Given the description of an element on the screen output the (x, y) to click on. 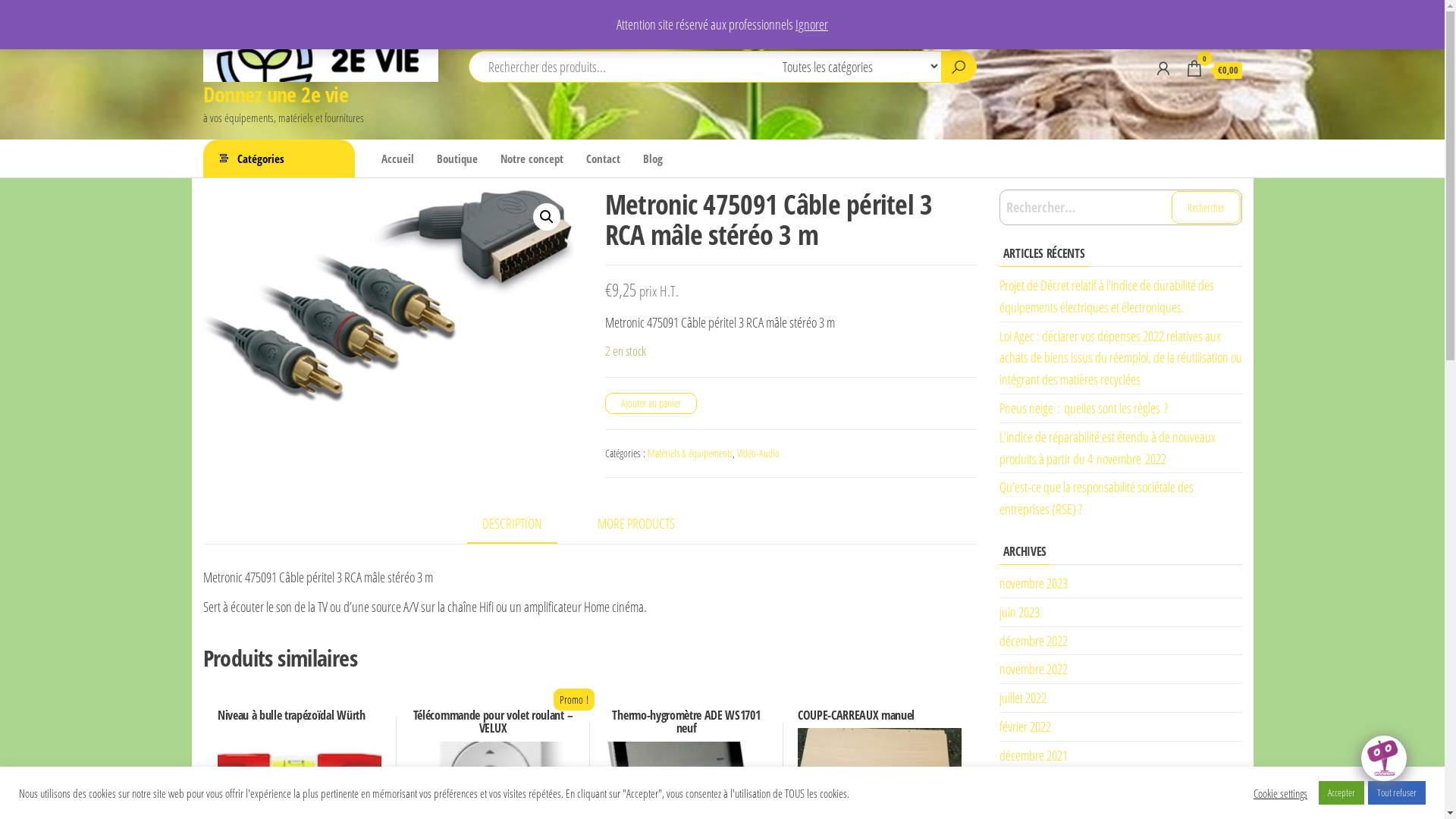
Notre concept Element type: text (531, 158)
Boutique Element type: text (456, 158)
Cable 3 RCA PERITEL - 3m Element type: hover (388, 295)
Cookie settings Element type: text (1280, 792)
Ajouter au panier Element type: text (650, 403)
novembre 2021 Element type: text (1033, 783)
Accueil Element type: text (397, 158)
Accepter Element type: text (1341, 792)
novembre 2022 Element type: text (1033, 668)
Blog Element type: text (651, 158)
Contact Element type: text (602, 158)
Tout refuser Element type: text (1396, 792)
Ignorer Element type: text (811, 24)
Rechercher Element type: text (1204, 207)
juillet 2022 Element type: text (1022, 697)
DESCRIPTION Element type: text (512, 524)
Mon compte Element type: hover (1162, 67)
novembre 2023 Element type: text (1033, 583)
MORE PRODUCTS Element type: text (636, 523)
juin 2023 Element type: text (1019, 611)
Donnez une 2e vie Element type: text (275, 93)
